Given the description of an element on the screen output the (x, y) to click on. 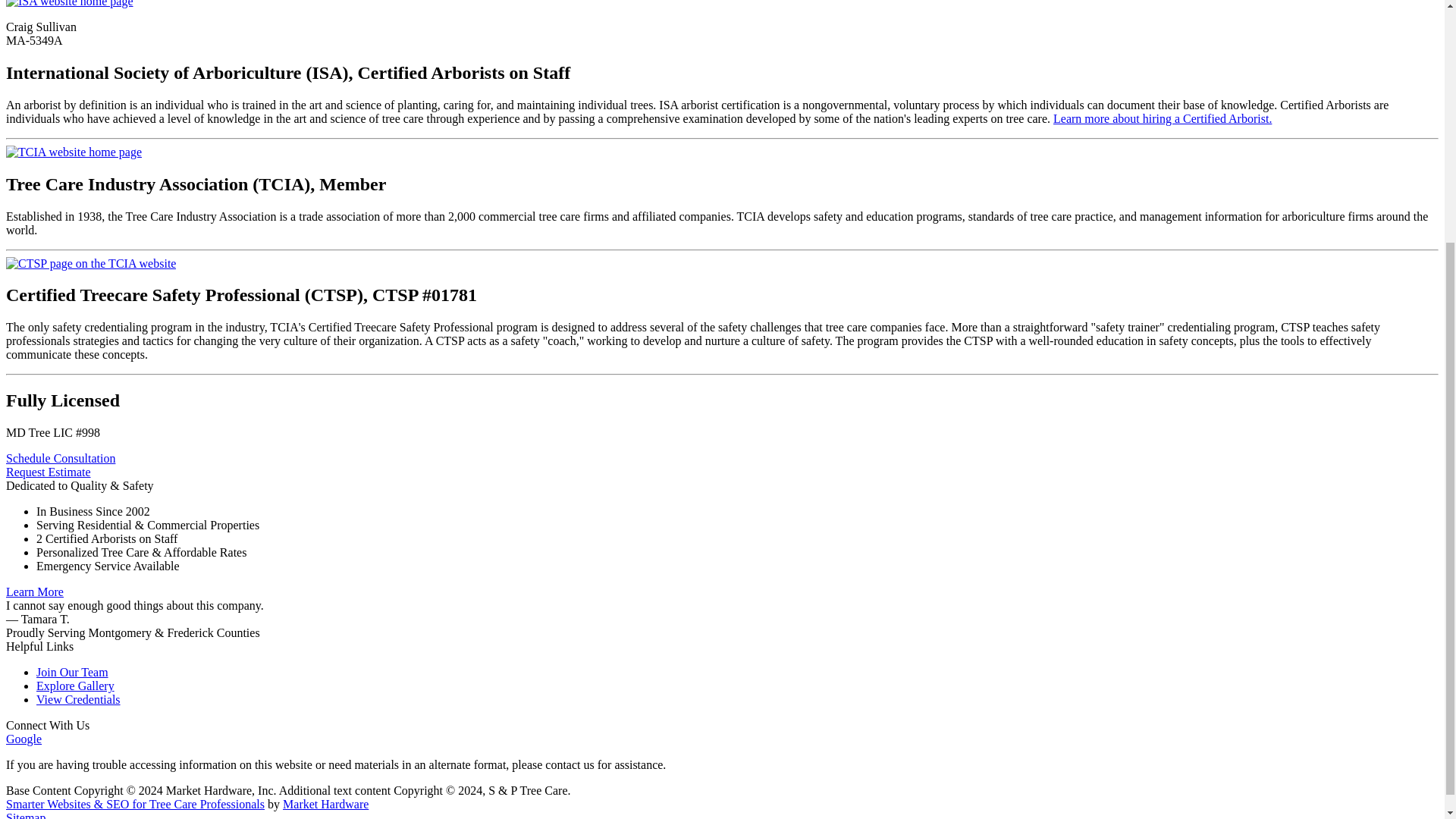
Join Our Team (71, 671)
Explore Gallery (75, 685)
Market Hardware (325, 803)
Request Estimate (47, 472)
View Credentials (78, 698)
Schedule Consultation (60, 458)
Learn more about hiring a Certified Arborist. (1161, 118)
Learn More (34, 591)
Google (23, 738)
